Given the description of an element on the screen output the (x, y) to click on. 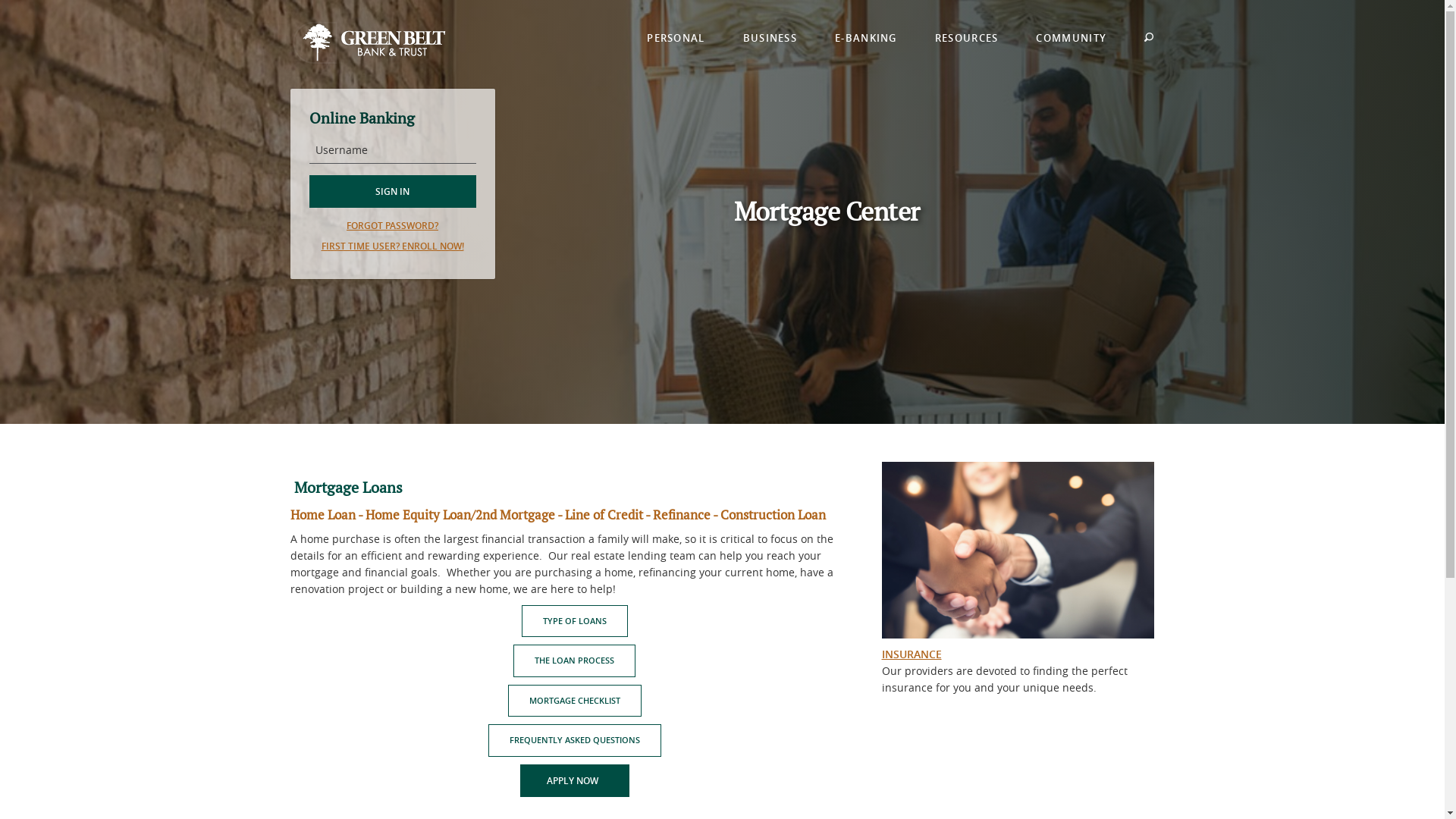
SIGN IN Element type: text (392, 191)
Green Belt Bank & Trust, Iowa Falls, IA Element type: hover (368, 42)
FORGOT PASSWORD?
(OPENS IN A NEW WINDOW) Element type: text (392, 225)
  APPLY NOW     Element type: text (574, 780)
INSURANCE
(OPENS IN A NEW WINDOW) Element type: text (911, 653)
FREQUENTLY ASKED QUESTIONS Element type: text (574, 740)
COMMUNITY Element type: text (1070, 42)
TYPE OF LOANS Element type: text (574, 621)
THE LOAN PROCESS Element type: text (574, 660)
MORTGAGE CHECKLIST Element type: text (574, 700)
FIRST TIME USER? ENROLL NOW!
(OPENS IN A NEW WINDOW) Element type: text (392, 245)
